Given the description of an element on the screen output the (x, y) to click on. 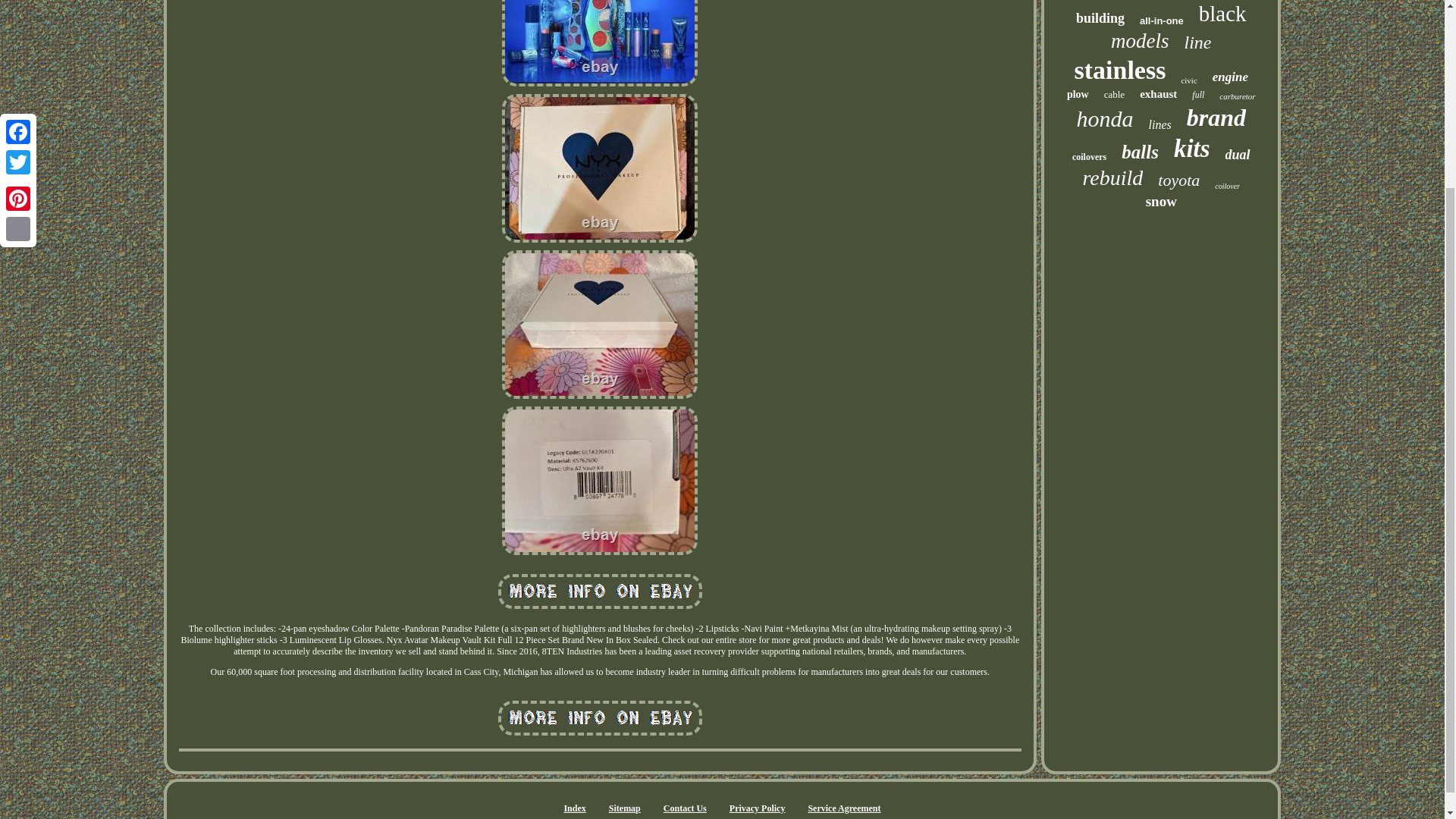
line (1198, 42)
brand (1216, 117)
full (1198, 94)
carburetor (1237, 95)
all-in-one (1161, 20)
building (1099, 18)
engine (1229, 77)
